Given the description of an element on the screen output the (x, y) to click on. 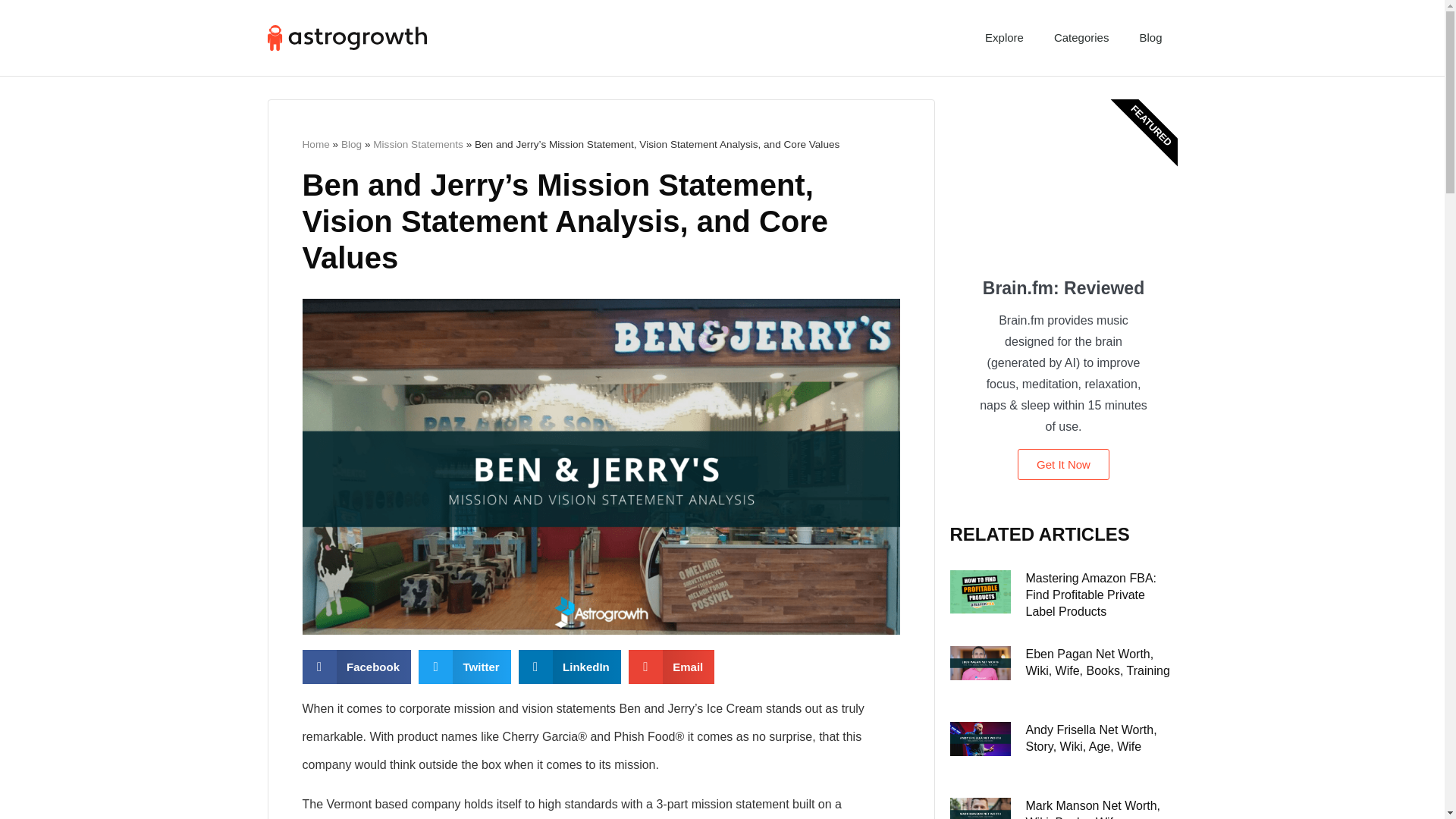
Eben Pagan Net Worth, Wiki, Wife, Books, Training (1097, 662)
Blog (350, 143)
Mastering Amazon FBA: Find Profitable Private Label Products (1090, 594)
Home (315, 143)
Mission Statements (417, 143)
Explore (1004, 38)
Mark Manson Net Worth, Wiki, Books, Wife (1092, 809)
Categories (1081, 38)
Andy Frisella Net Worth, Story, Wiki, Age, Wife (1090, 737)
